Given the description of an element on the screen output the (x, y) to click on. 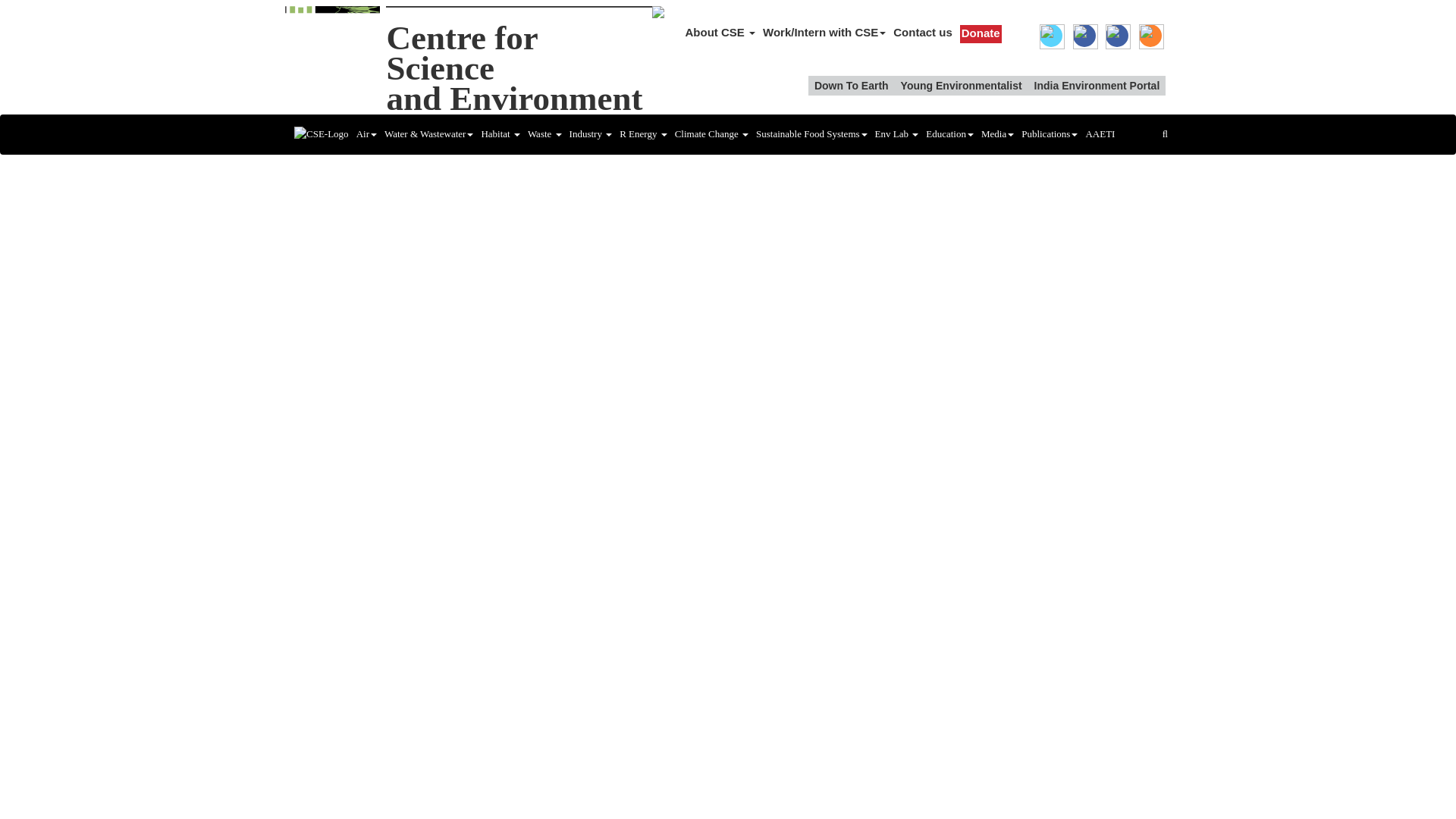
Linkedin (1084, 35)
Instagram (1149, 35)
Contact us (922, 32)
Air (366, 133)
India Environment Portal (1096, 85)
Young Environmentalist (961, 85)
Twitter (513, 67)
Donate (1050, 35)
Facebook (981, 33)
About CSE (1116, 35)
Down To Earth (720, 32)
